Given the description of an element on the screen output the (x, y) to click on. 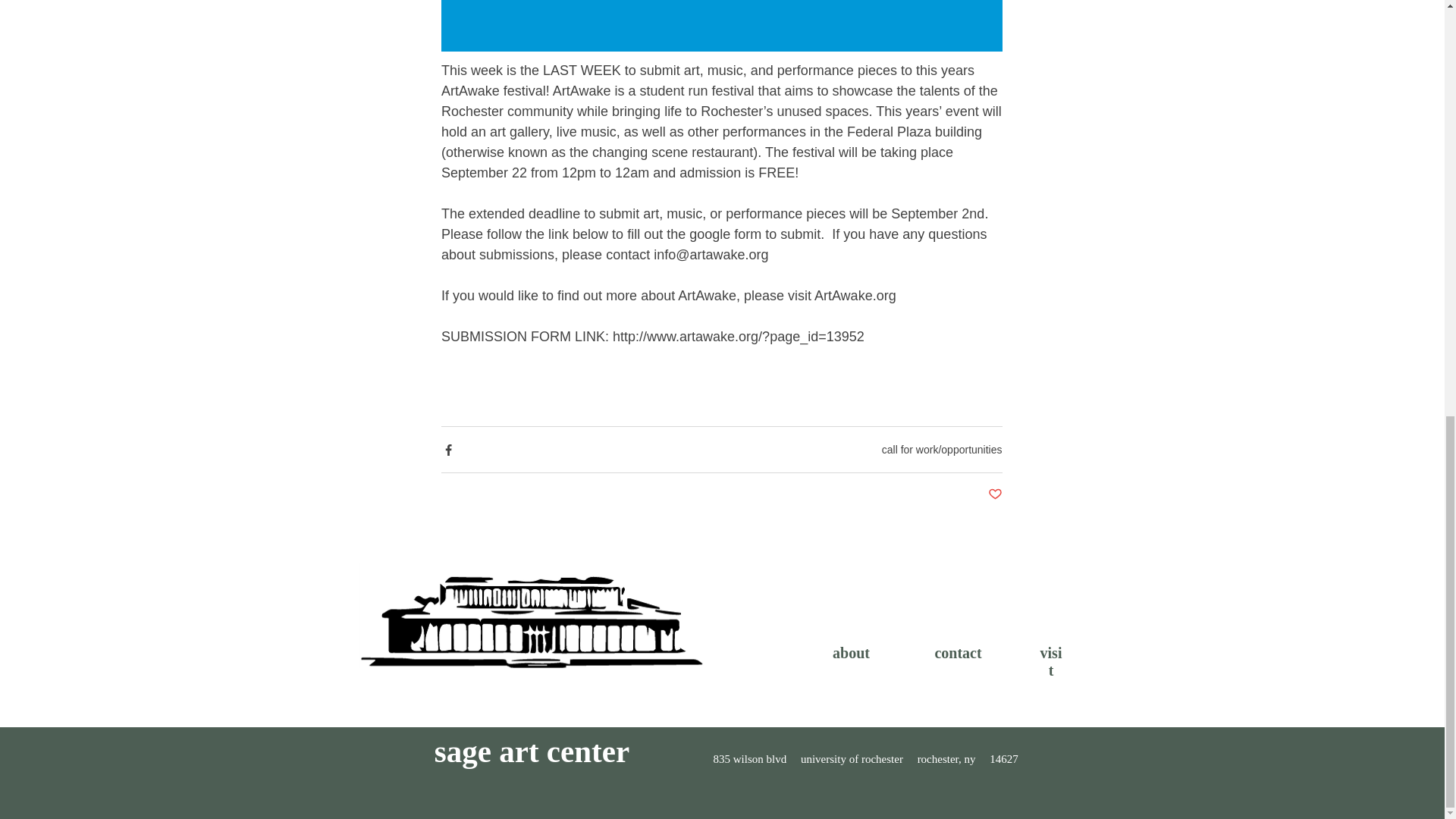
contact (957, 652)
Post not marked as liked (994, 494)
sage art center (530, 751)
about (850, 652)
